Given the description of an element on the screen output the (x, y) to click on. 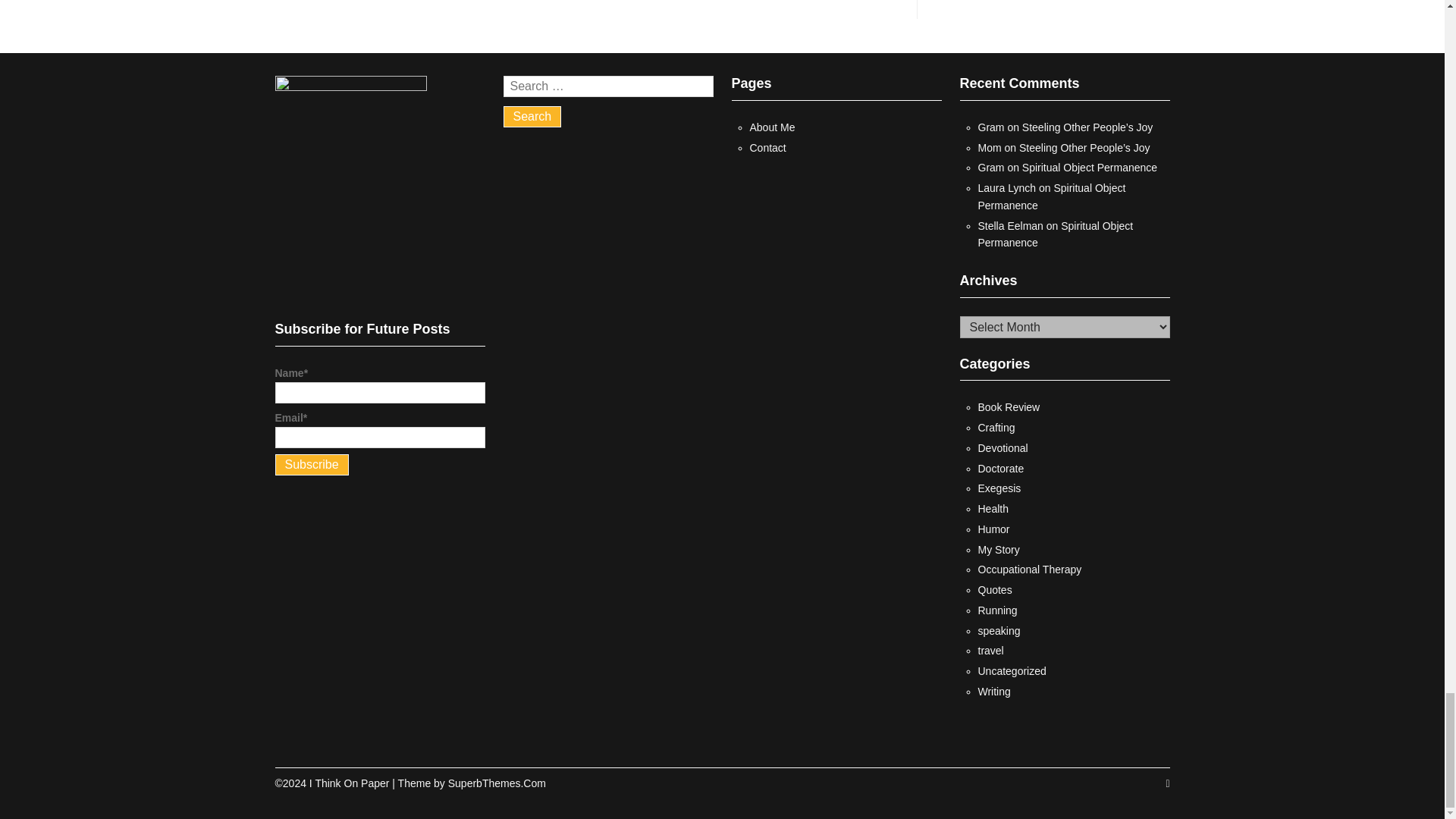
Search (532, 116)
Subscribe (311, 464)
Search (532, 116)
About Me (771, 127)
Subscribe (311, 464)
Search (532, 116)
